Given the description of an element on the screen output the (x, y) to click on. 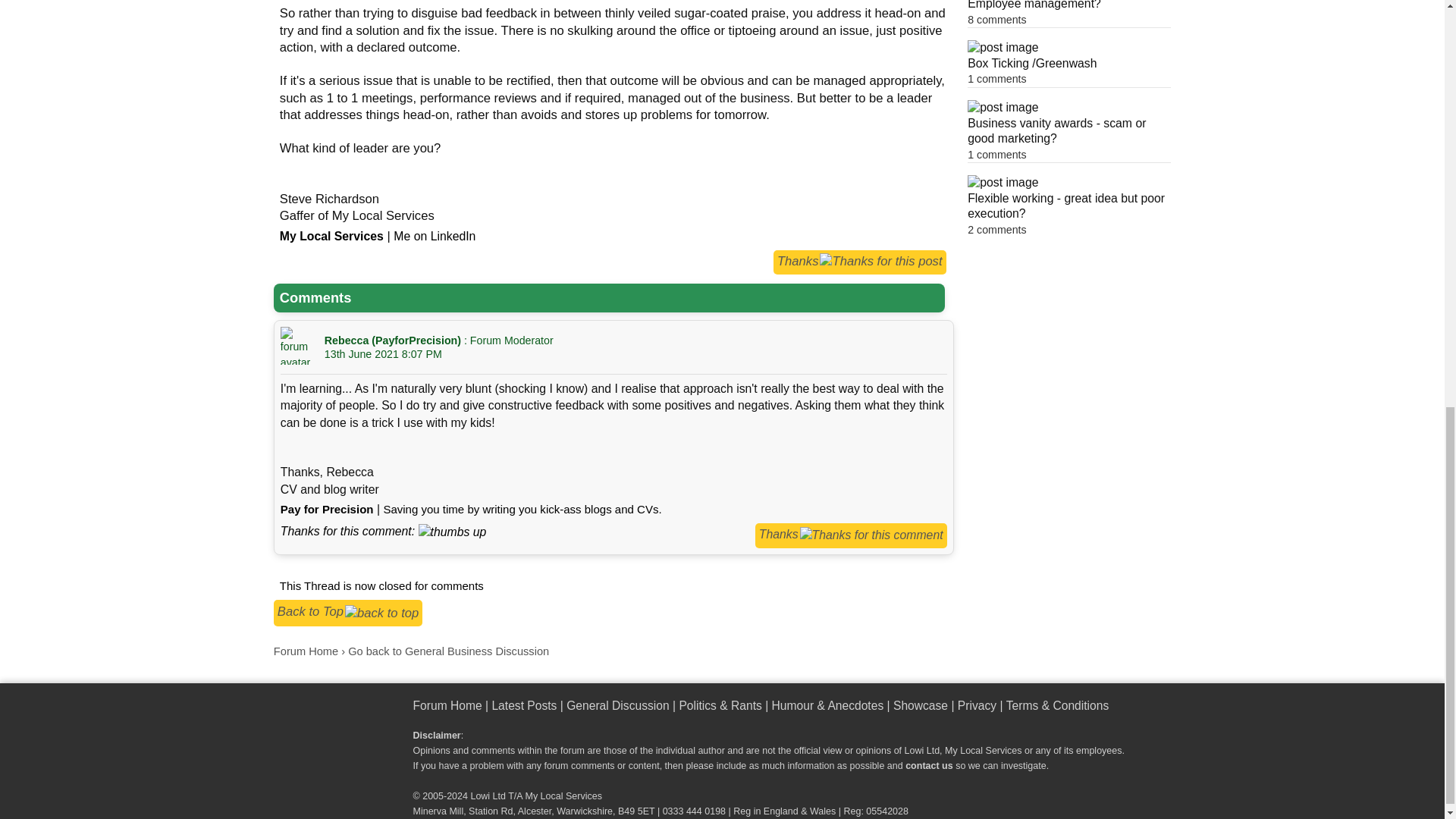
Pay for Precision (327, 508)
Me on LinkedIn (434, 236)
Saving you time by writing you kick-ass blogs and CVs. (521, 508)
My Local Services (331, 236)
Thanks (859, 262)
